Given the description of an element on the screen output the (x, y) to click on. 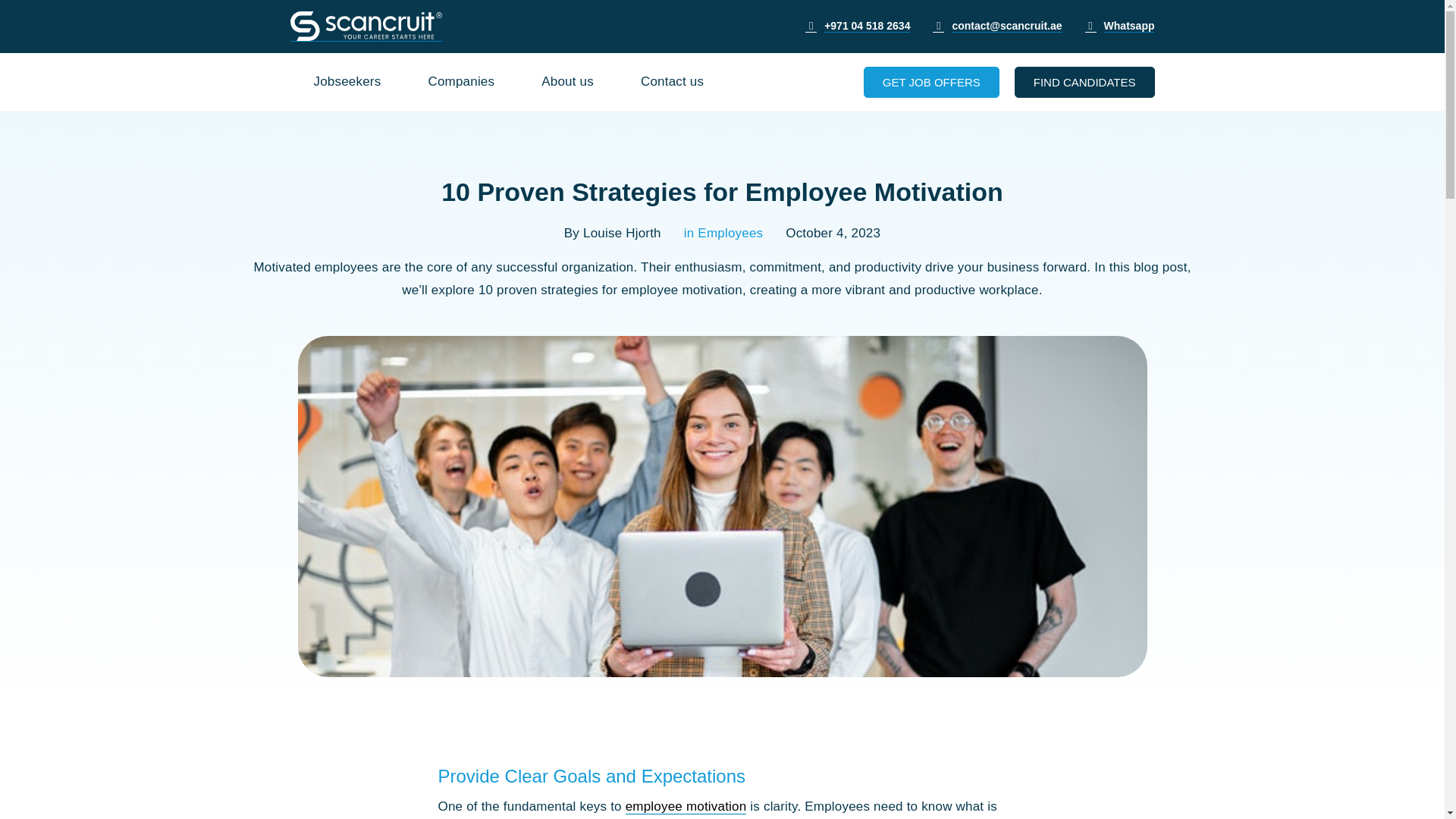
GET JOB OFFERS (930, 81)
Whatsapp (1128, 25)
Companies (461, 82)
Jobseekers (346, 82)
FIND CANDIDATES (1084, 81)
